Given the description of an element on the screen output the (x, y) to click on. 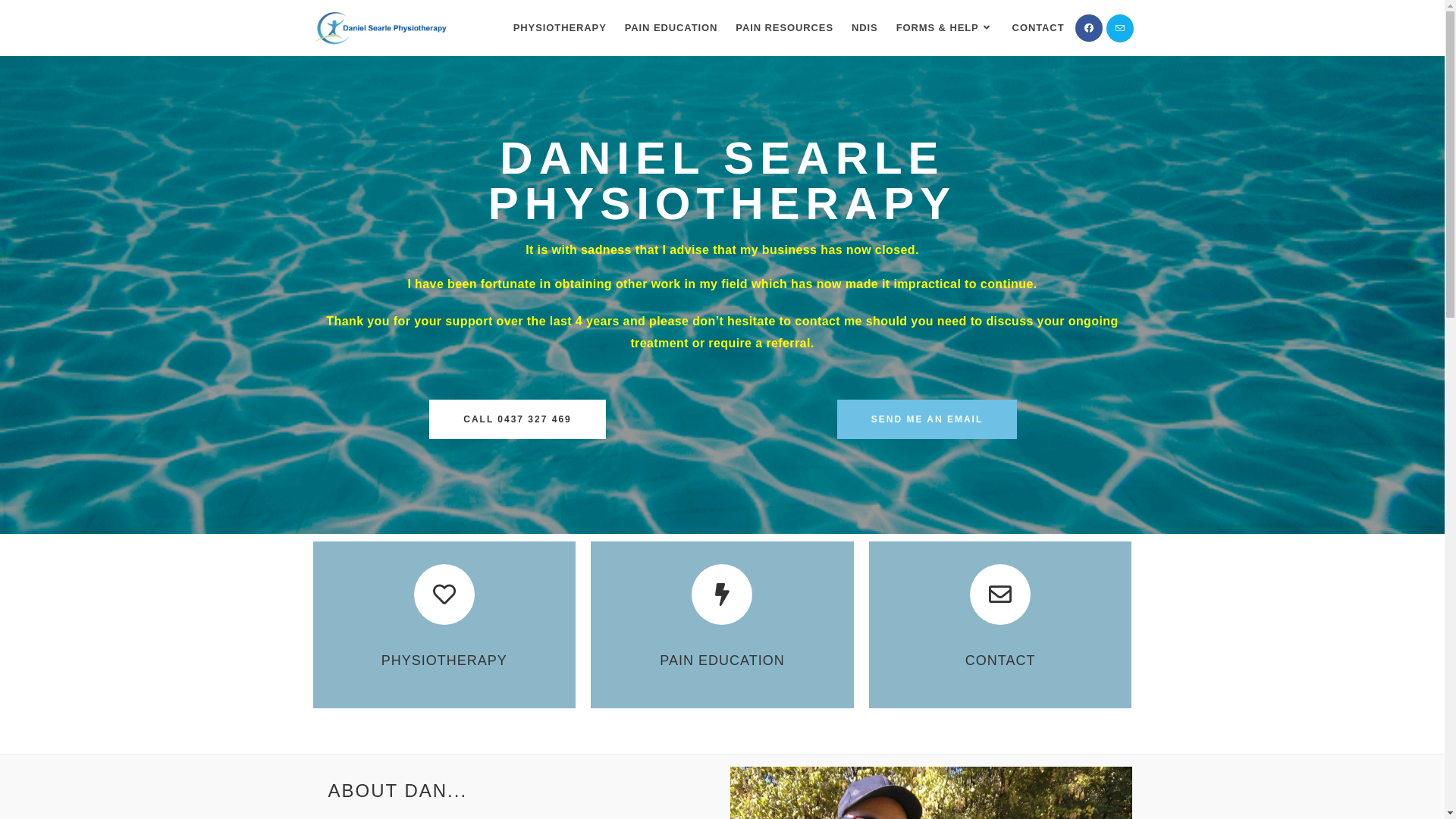
CONTACT Element type: text (1000, 660)
Covid information and plan Element type: text (926, 756)
CALL 0437 327 469 Element type: text (517, 419)
AHPRA Reg: PHY0001920625 Element type: text (517, 739)
Consent form Element type: text (927, 722)
PHYSIOTHERAPY Element type: text (559, 28)
PHYSIOTHERAPY Element type: text (444, 660)
CONTACT Element type: text (1038, 28)
Privacy Element type: text (926, 705)
FORMS & HELP Element type: text (945, 28)
NDIS Element type: text (864, 28)
ABN: 74 834 377 296 Element type: text (516, 722)
email: daniel@danielsearle.com.au Element type: text (517, 756)
PAIN RESOURCES Element type: text (784, 28)
PAIN EDUCATION Element type: text (721, 660)
Provider: 4886895F Element type: text (517, 705)
SEND ME AN EMAIL Element type: text (927, 419)
PAIN EDUCATION Element type: text (671, 28)
Terms and conditions Element type: text (926, 739)
